Given the description of an element on the screen output the (x, y) to click on. 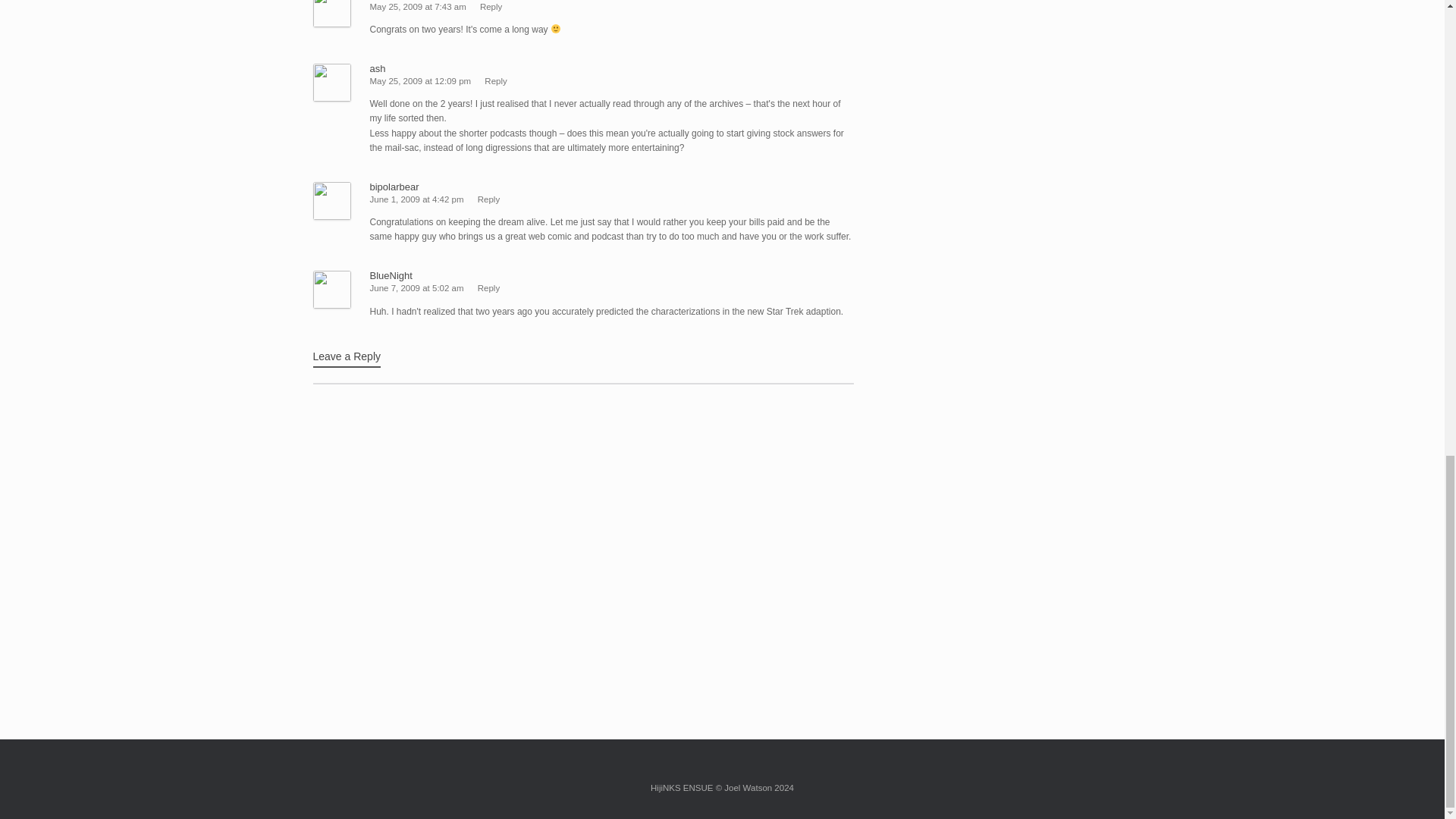
May 25, 2009 at 7:43 am (417, 6)
June 1, 2009 at 4:42 pm (416, 198)
May 25, 2009 at 12:09 pm (420, 80)
ash (377, 68)
June 7, 2009 at 5:02 am (416, 287)
Reply (488, 198)
bipolarbear (394, 186)
Reply (495, 80)
Reply (491, 6)
Reply (488, 287)
